Given the description of an element on the screen output the (x, y) to click on. 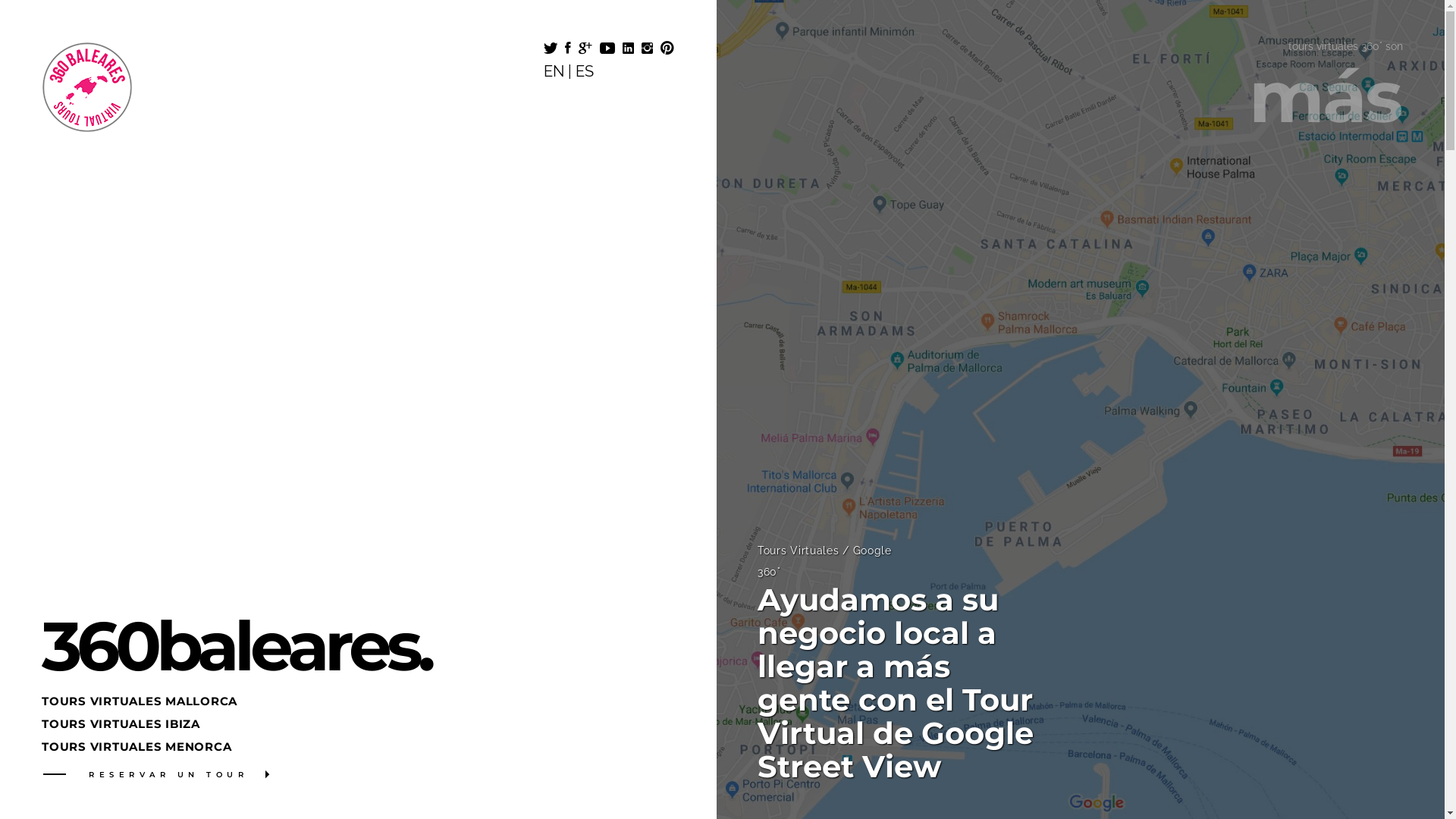
RESERVAR UN TOUR Element type: text (155, 771)
EN Element type: text (552, 71)
ES Element type: text (583, 71)
